Given the description of an element on the screen output the (x, y) to click on. 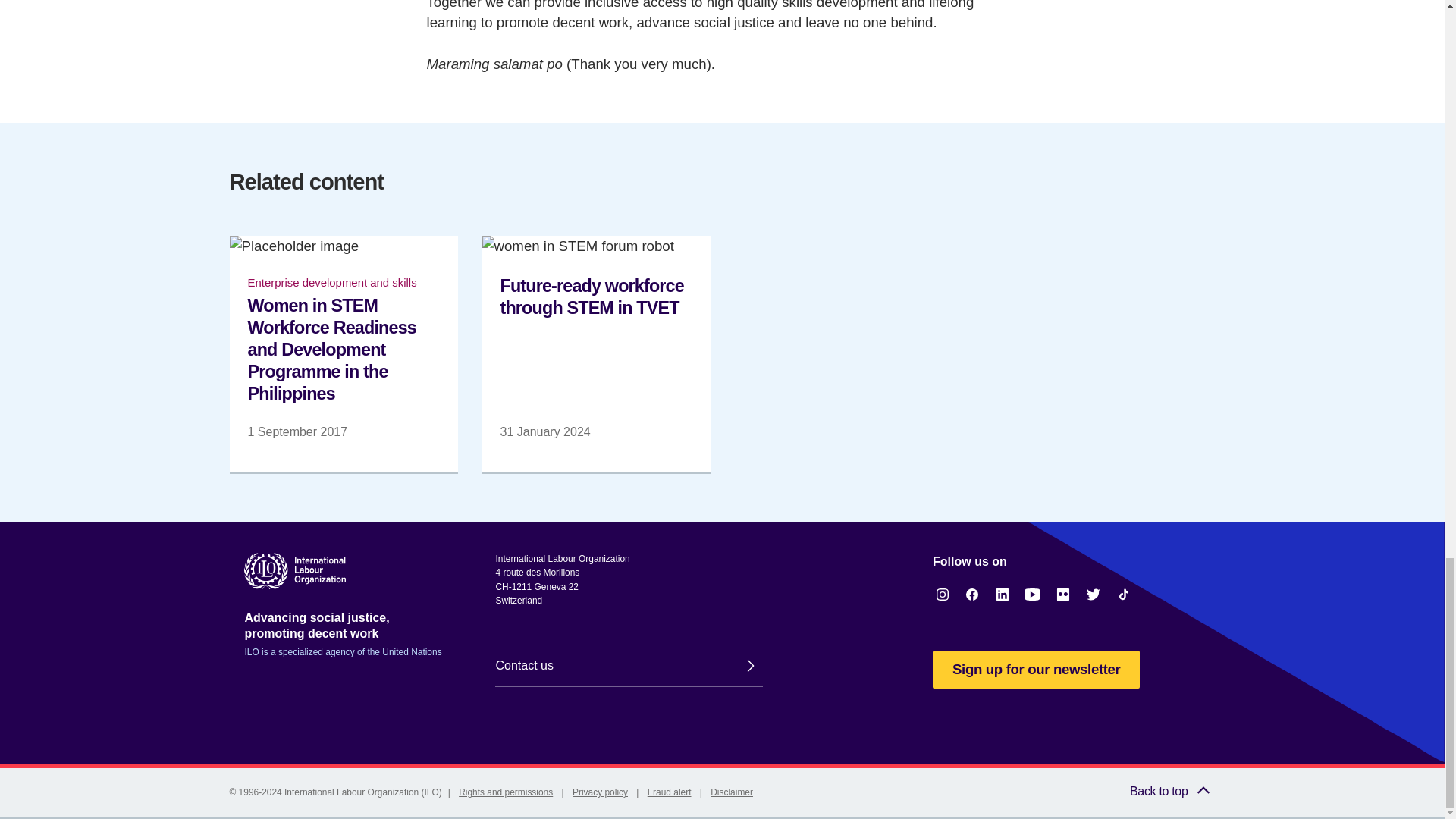
Flickr (1062, 594)
Twitter (1093, 594)
Instagram (941, 594)
Linkedin (1001, 594)
Future-ready workforce through STEM in TVET (595, 352)
Facebook (971, 594)
Tiktok (1123, 594)
Youtube (1032, 594)
